Given the description of an element on the screen output the (x, y) to click on. 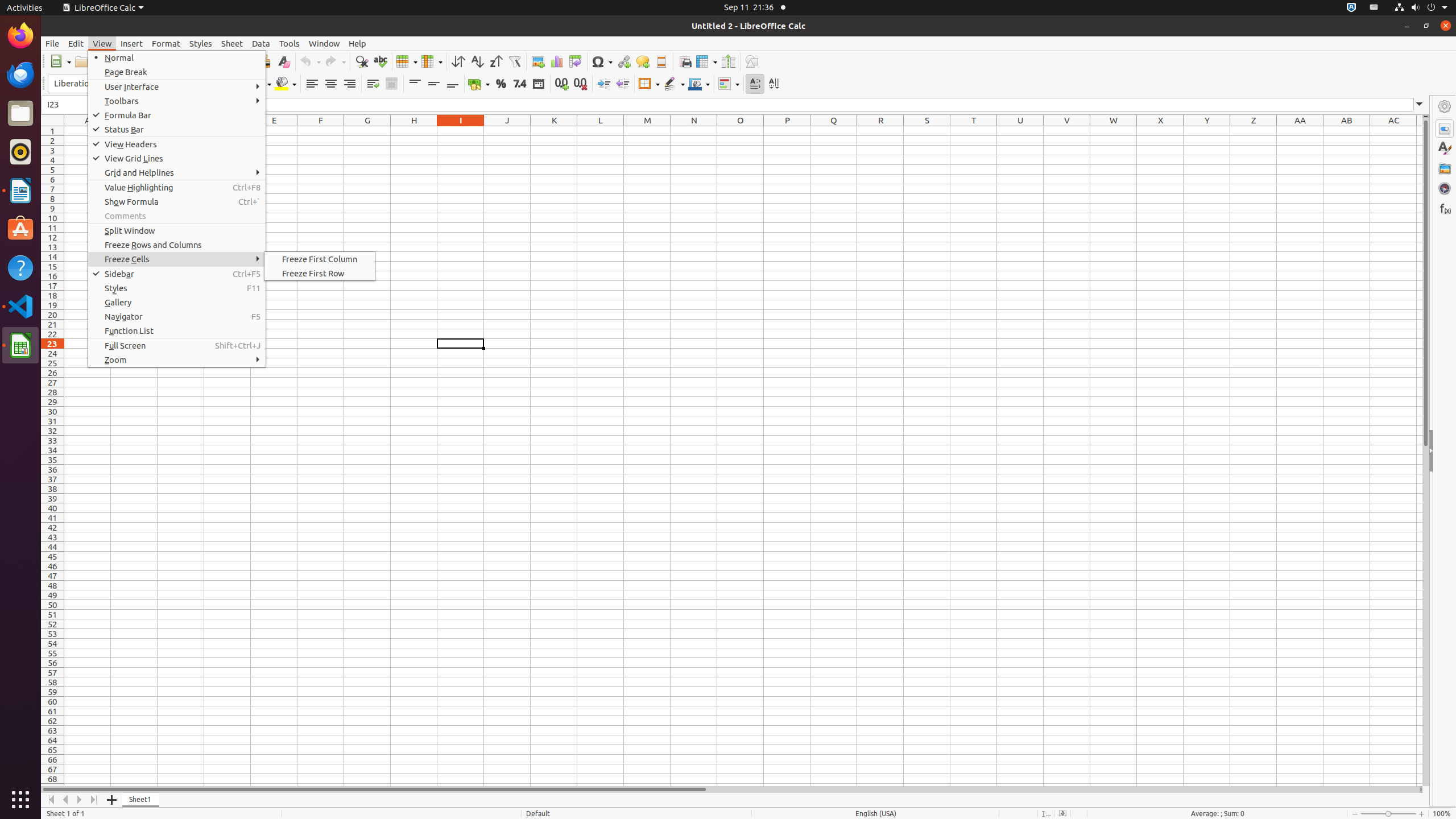
U1 Element type: table-cell (1020, 130)
AB1 Element type: table-cell (1346, 130)
Activities Element type: label (24, 7)
Center Vertically Element type: push-button (433, 83)
